Given the description of an element on the screen output the (x, y) to click on. 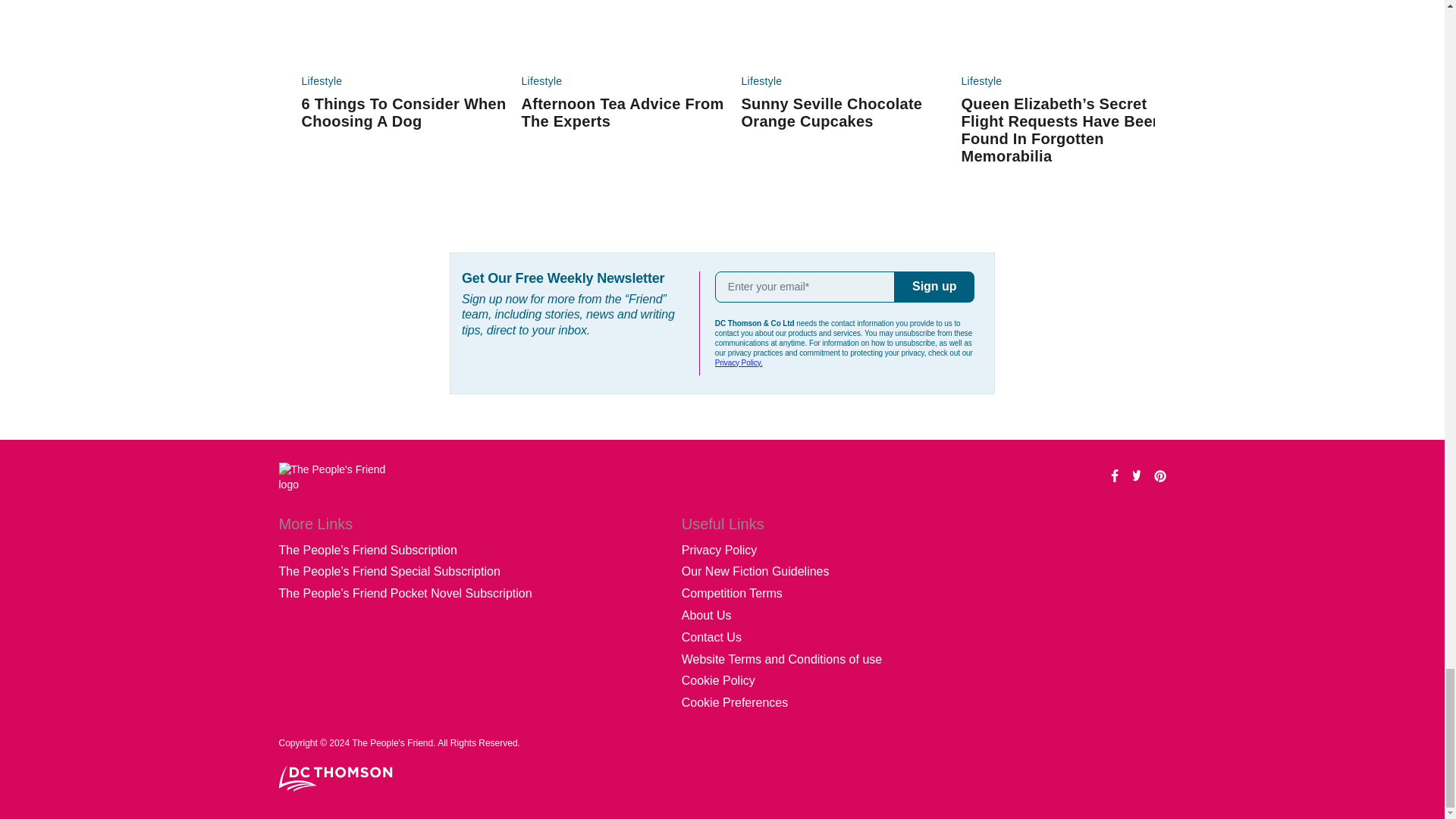
DCT Logo (336, 777)
Sign up (933, 286)
iStock-980471286 (403, 33)
Privacy Policy. (738, 362)
queen elizabth and philip walking off plane (1063, 33)
